Given the description of an element on the screen output the (x, y) to click on. 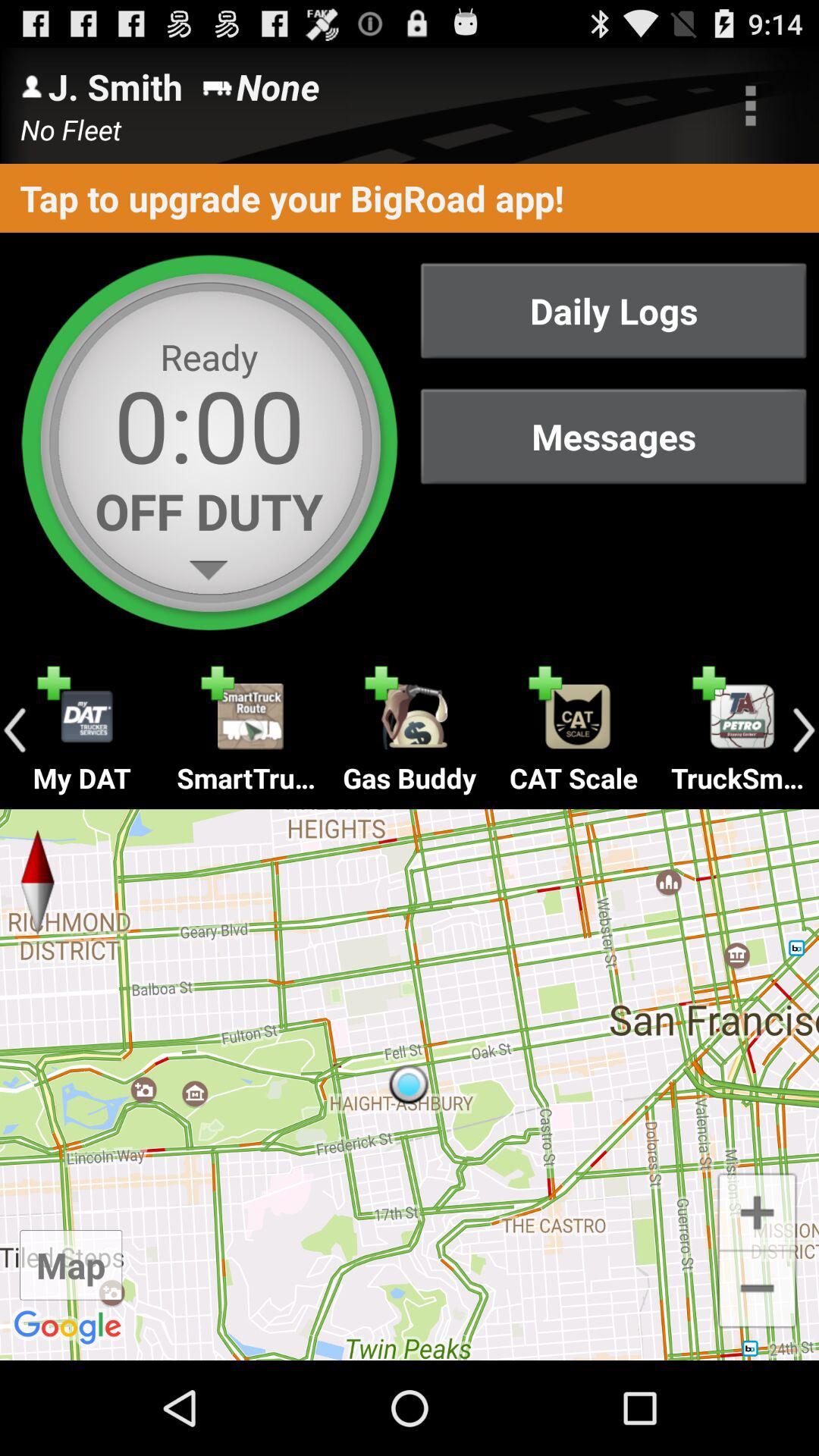
press item at the bottom (409, 1084)
